Given the description of an element on the screen output the (x, y) to click on. 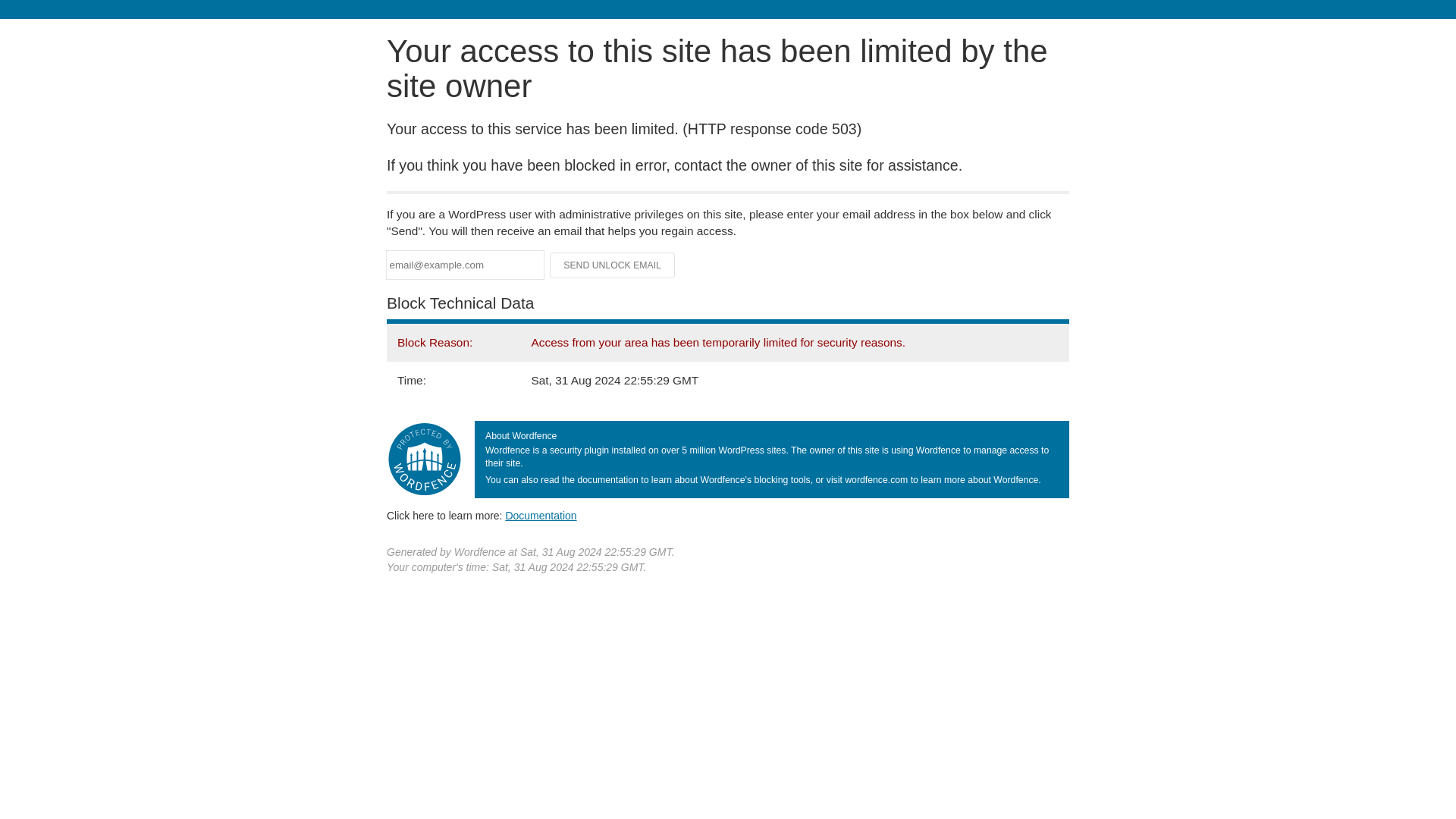
Send Unlock Email (612, 265)
Send Unlock Email (612, 265)
Documentation (540, 515)
